Given the description of an element on the screen output the (x, y) to click on. 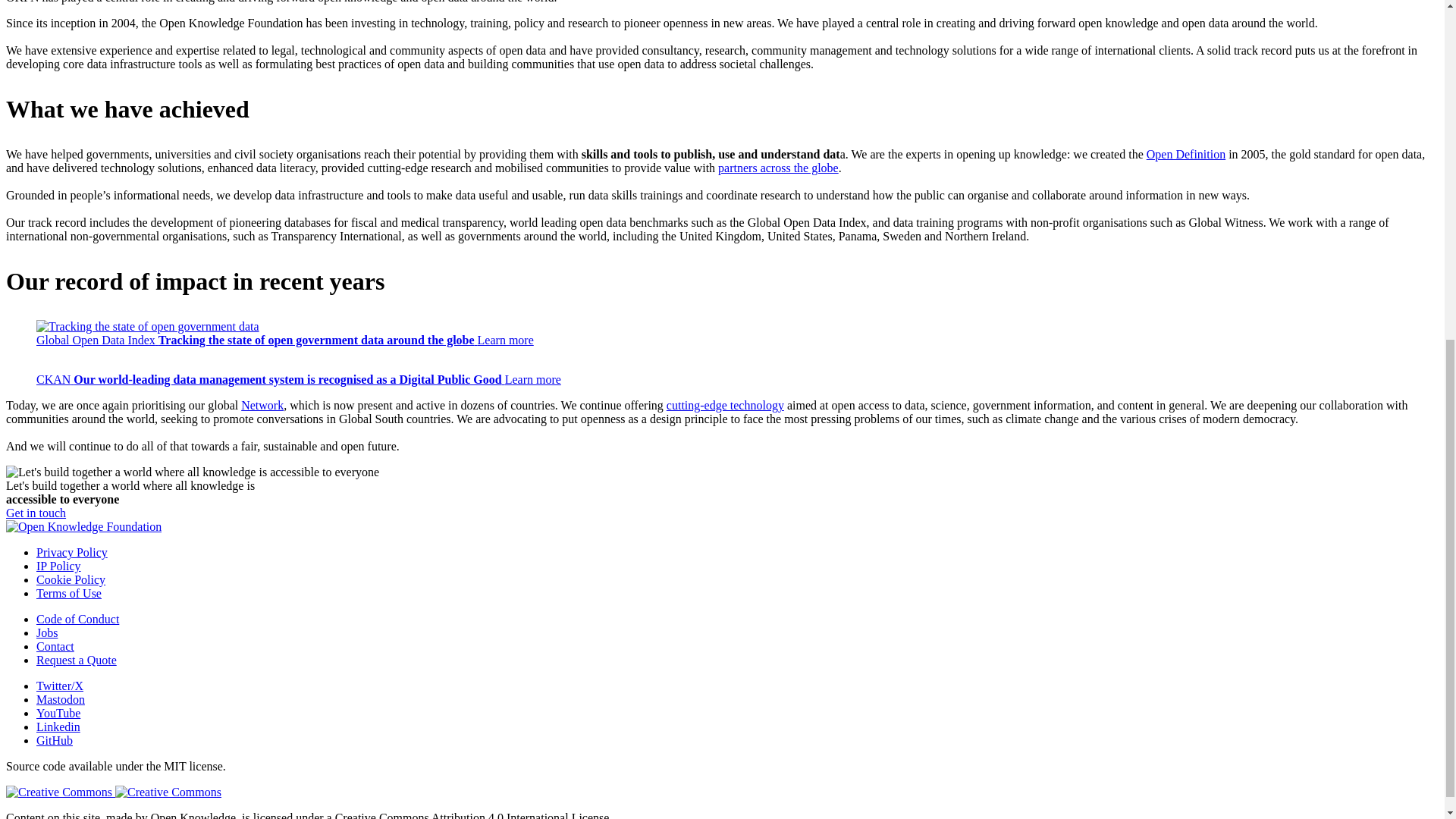
Open Definition (1186, 154)
Network (262, 404)
partners across the globe (777, 167)
Get in touch (35, 512)
cutting-edge technology (725, 404)
Tracking the state of open government data (147, 326)
